Given the description of an element on the screen output the (x, y) to click on. 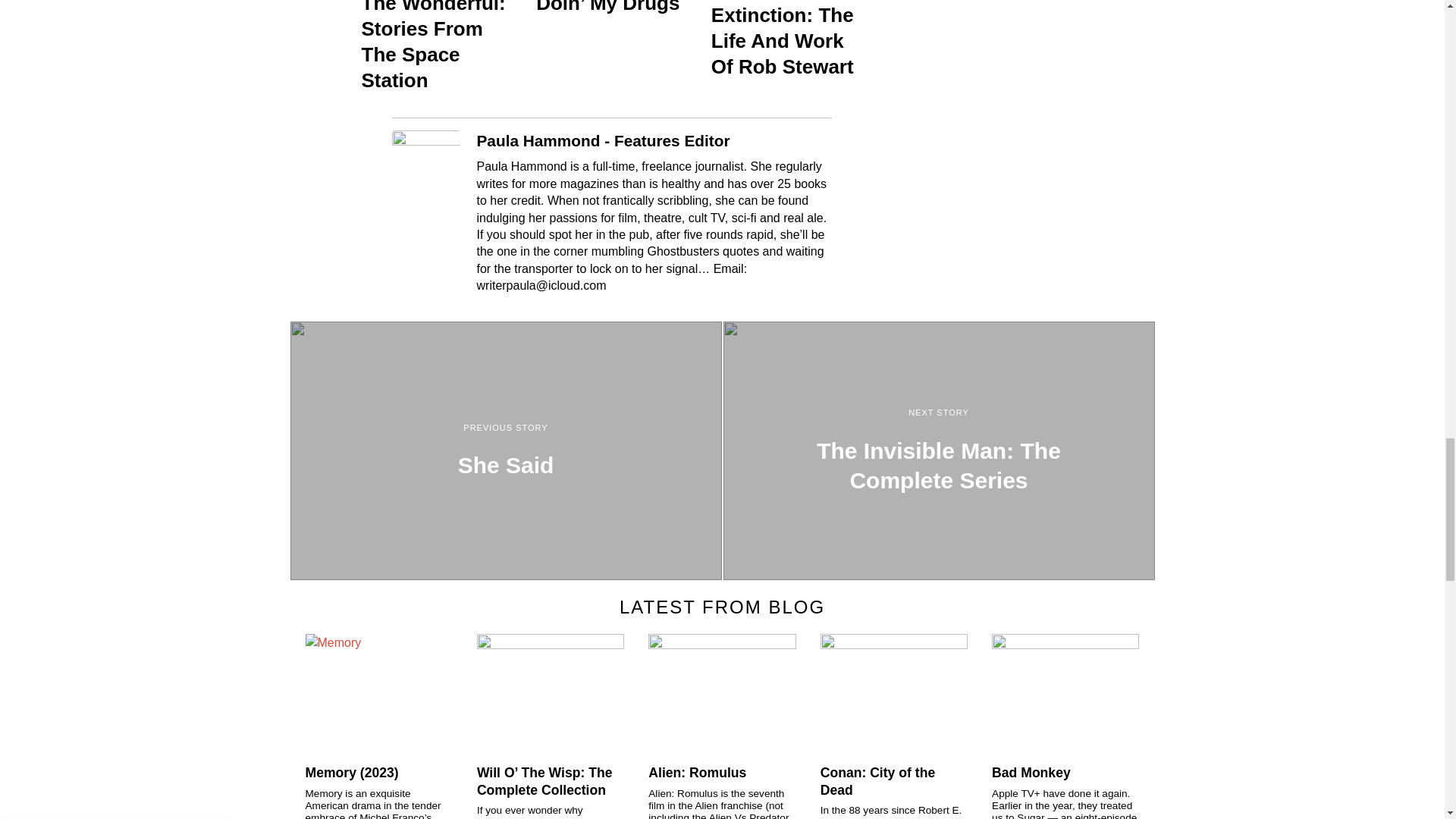
Paula Hammond - Features Editor (602, 140)
The Wonderful: Stories From The Space Station (436, 46)
Sharkwater Extinction: The Life And Work Of Rob Stewart (786, 39)
